Given the description of an element on the screen output the (x, y) to click on. 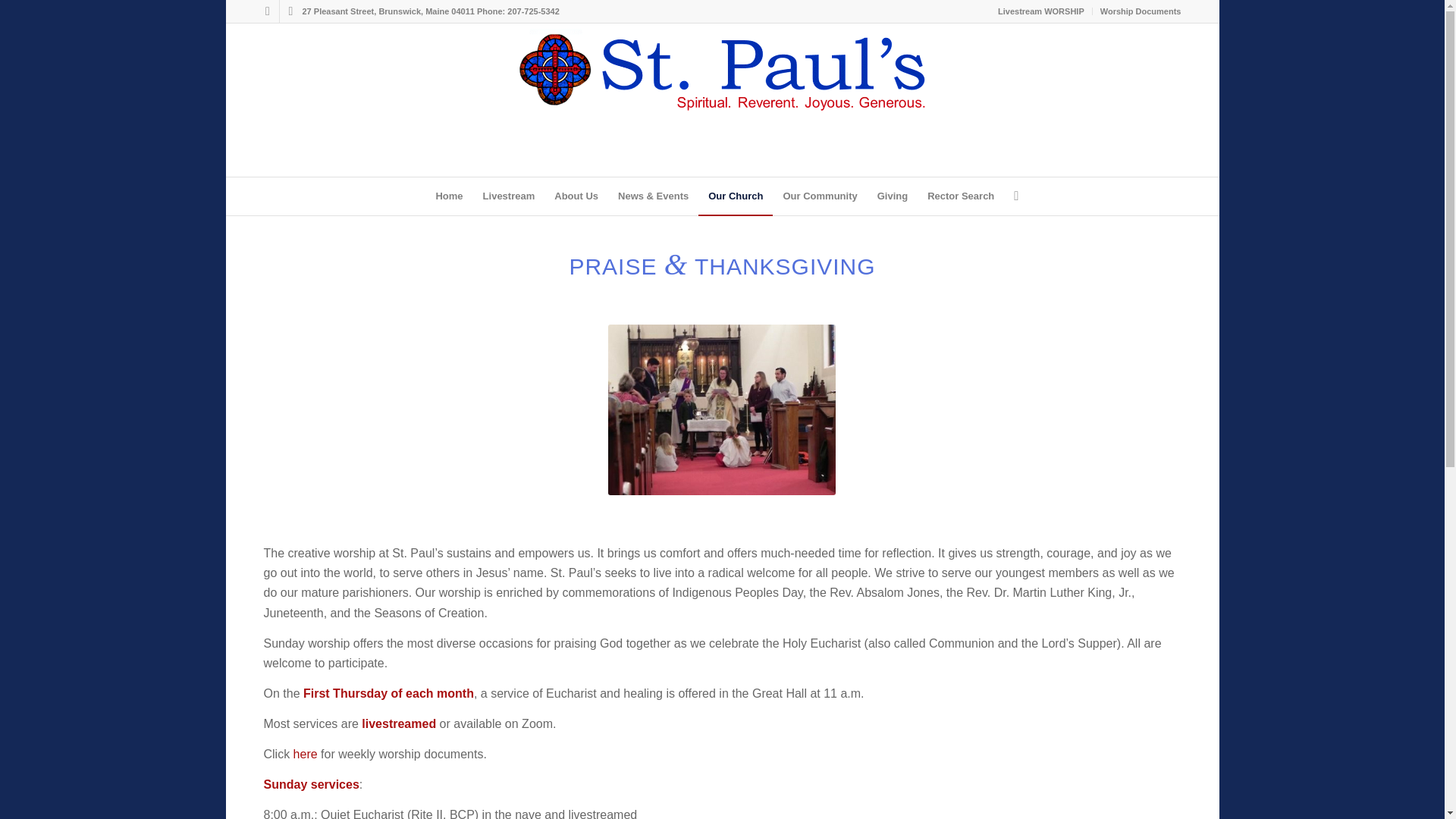
Facebook (267, 11)
Our Community (819, 196)
Livestream (508, 196)
st pauls logo 2 (722, 70)
Youtube (290, 11)
our church praise and thanksgiving image (721, 409)
Home (448, 196)
Our Church (735, 196)
here (303, 753)
livestreamed (400, 723)
